Given the description of an element on the screen output the (x, y) to click on. 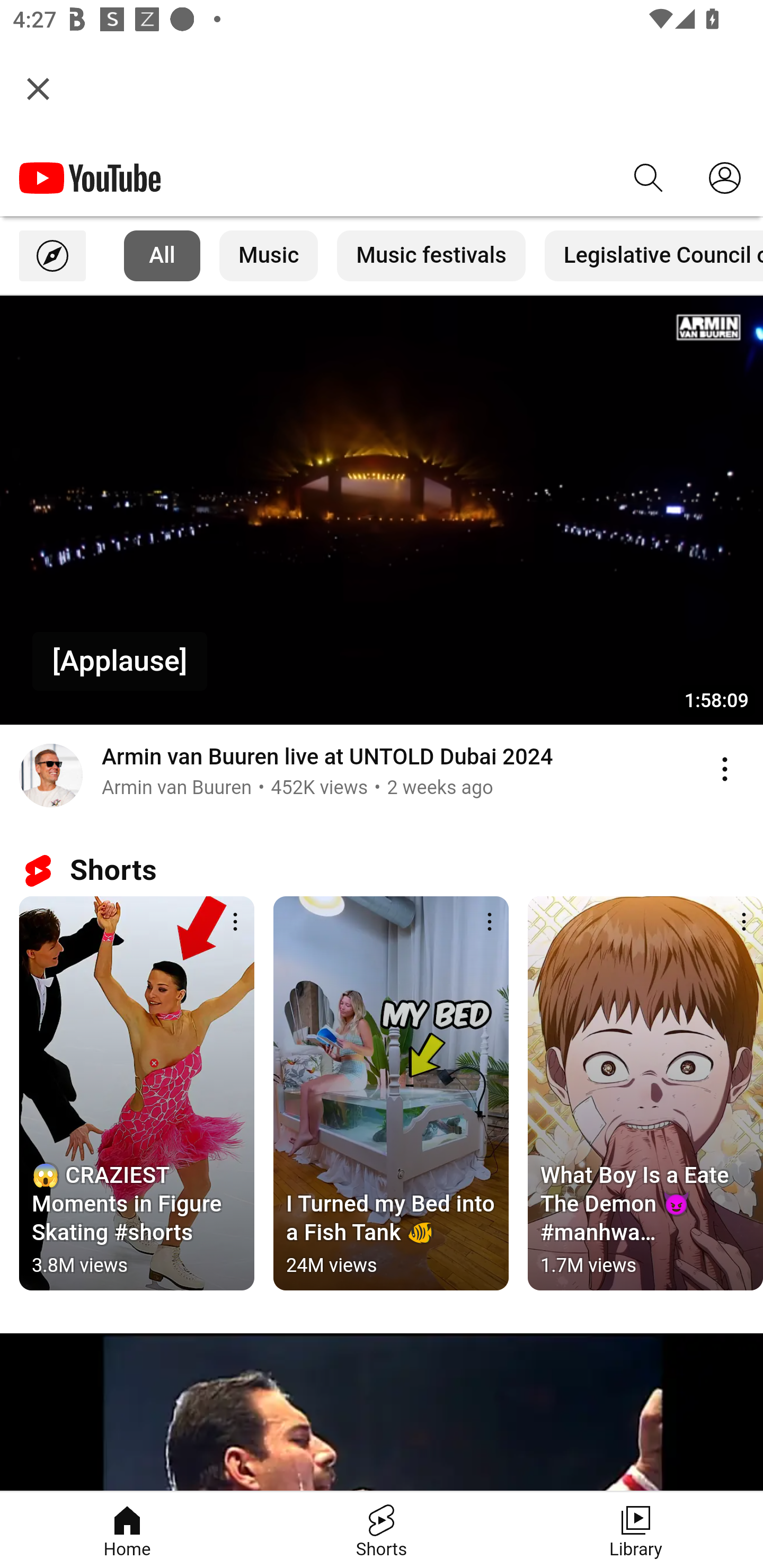
Close (38, 88)
YouTube (89, 177)
Search YouTube (648, 177)
Account (724, 177)
Explore (52, 255)
All (161, 255)
Music (269, 255)
Music festivals (431, 255)
YouTube Video Player [Applause] (381, 510)
[Applause] (120, 660)
Action menu (724, 768)
Go to channel (50, 777)
More actions (235, 922)
More actions (489, 922)
More actions (737, 922)
Home (127, 1530)
Shorts (381, 1530)
Library (635, 1530)
